Given the description of an element on the screen output the (x, y) to click on. 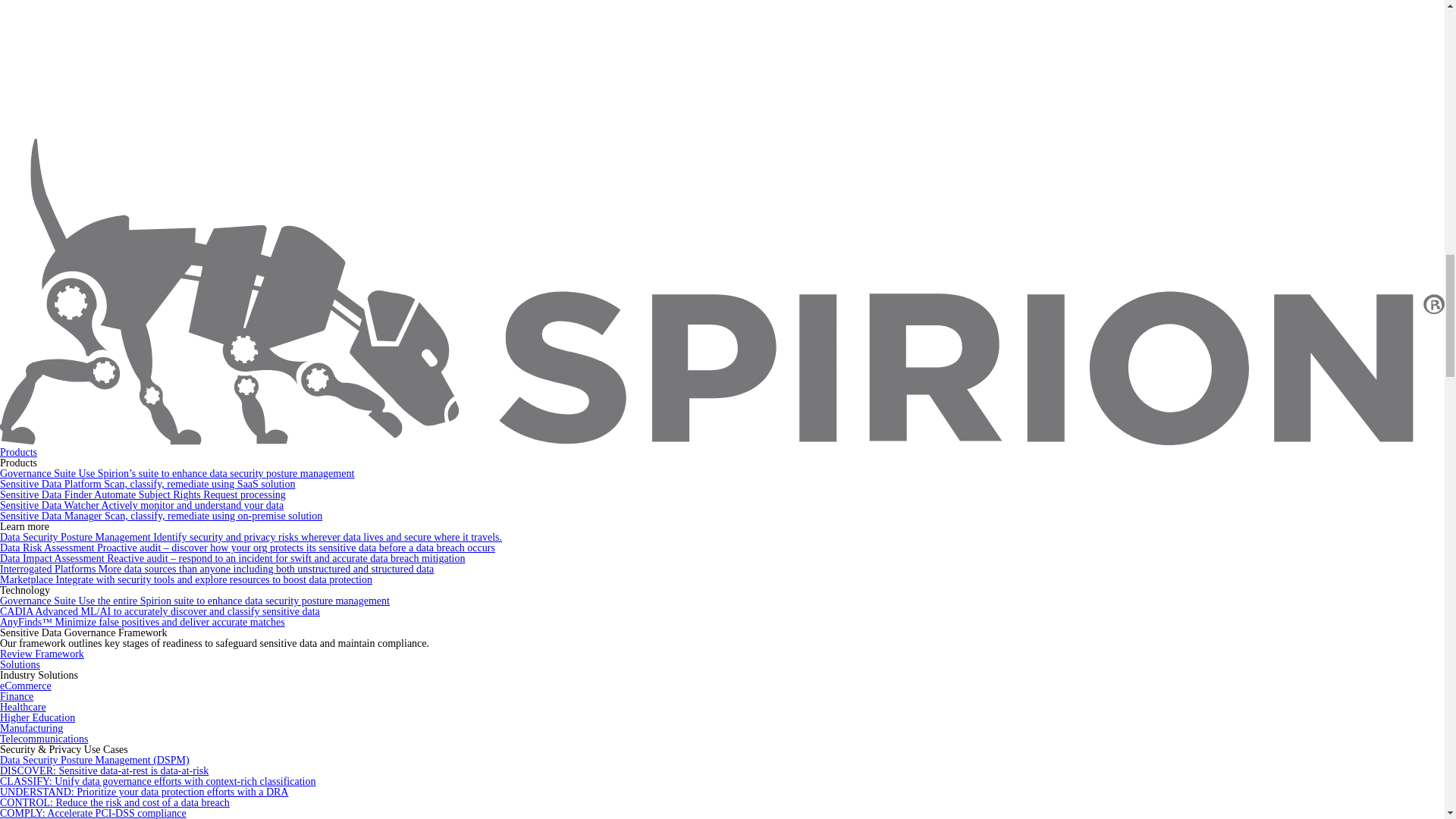
Healthcare (23, 706)
DISCOVER: Sensitive data-at-rest is data-at-risk (104, 770)
CONTROL: Reduce the risk and cost of a data breach (115, 802)
Higher Education (37, 717)
Finance (16, 696)
Telecommunications (43, 738)
Manufacturing (31, 727)
